Given the description of an element on the screen output the (x, y) to click on. 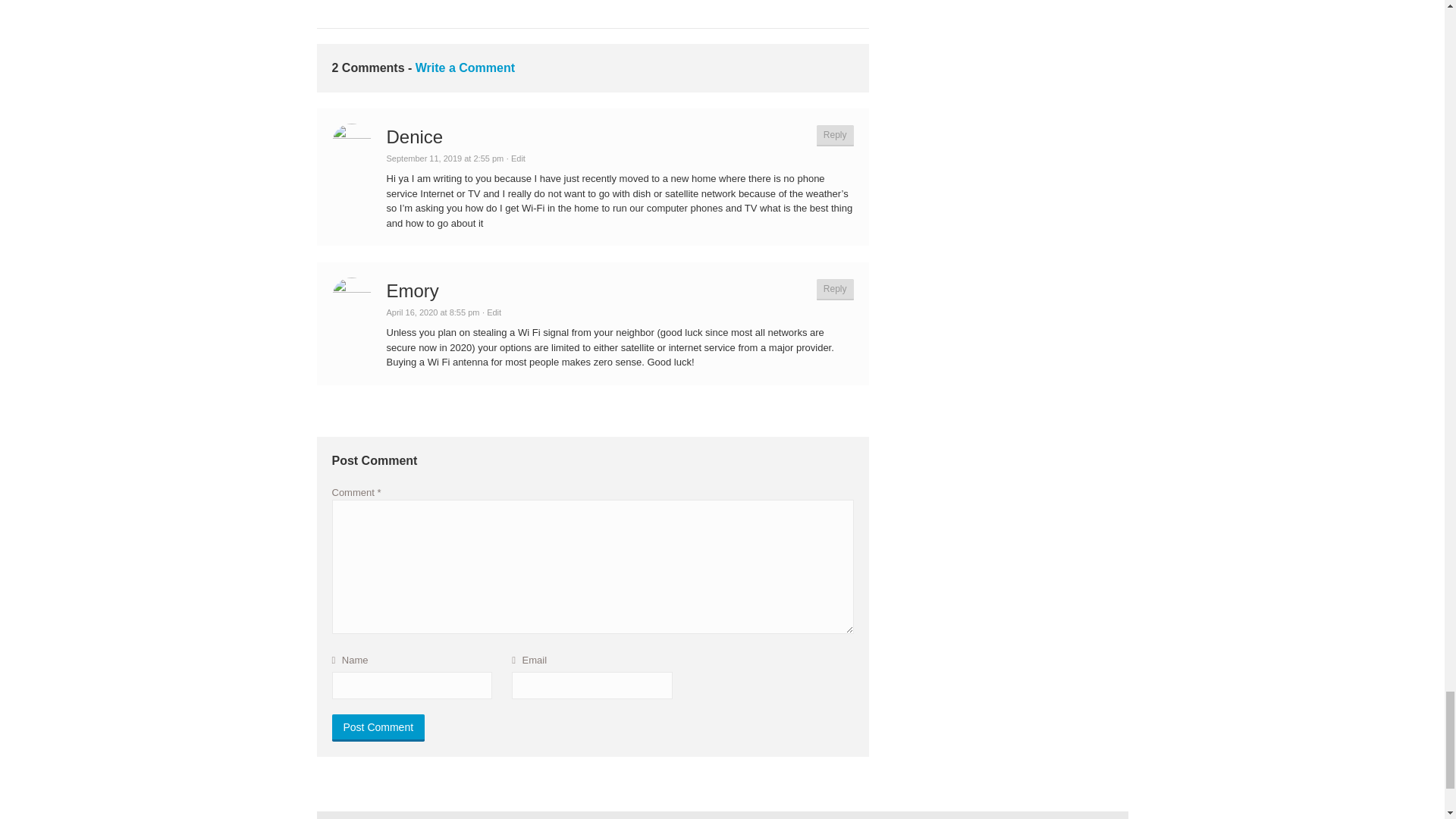
Edit Comment (490, 311)
Post Comment (378, 728)
Edit Comment (515, 157)
Thursday, April 16, 2020, 8:55 pm (433, 311)
Wednesday, September 11, 2019, 2:55 pm (445, 157)
